Given the description of an element on the screen output the (x, y) to click on. 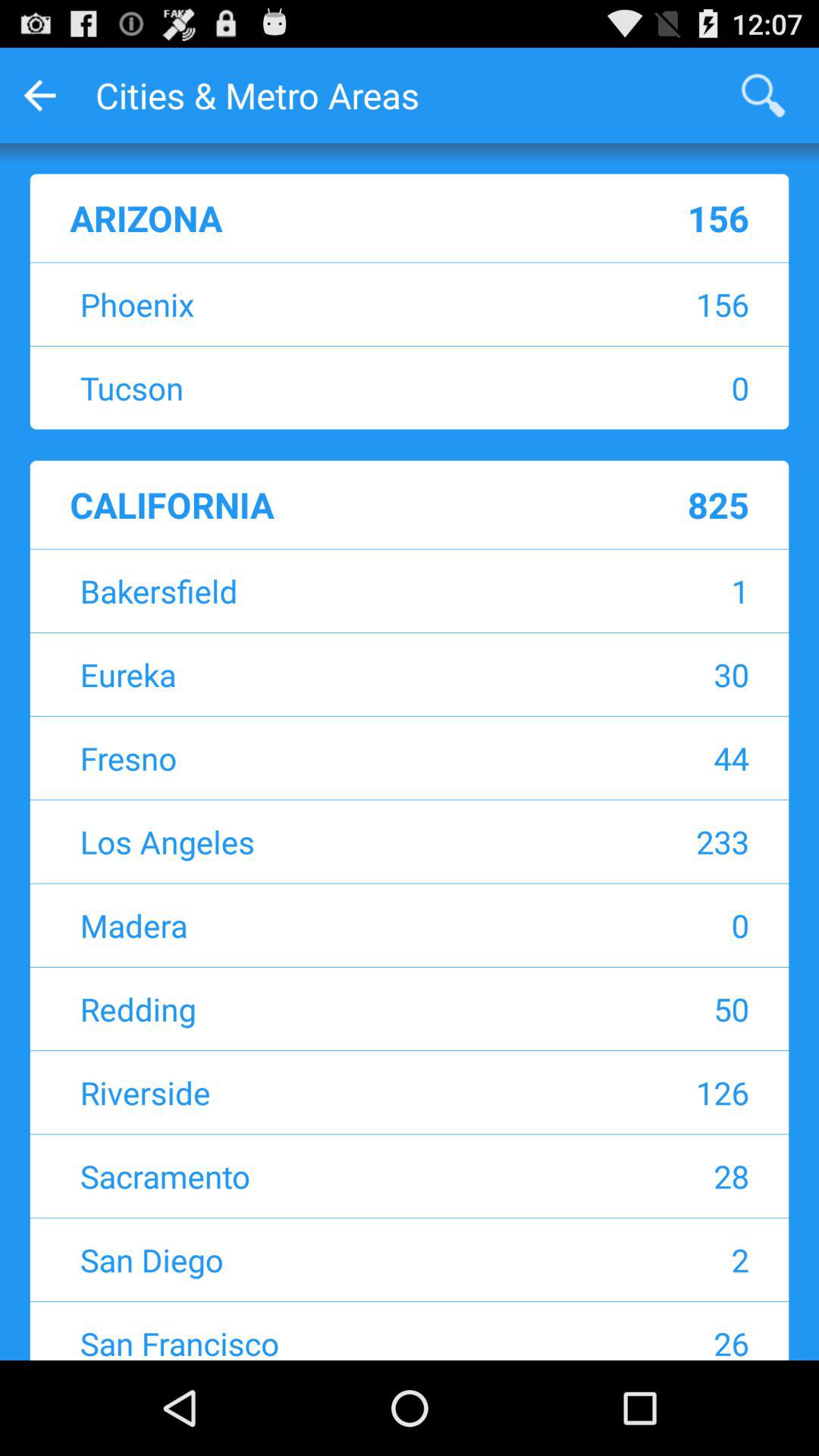
choose item below riverside (649, 1175)
